Given the description of an element on the screen output the (x, y) to click on. 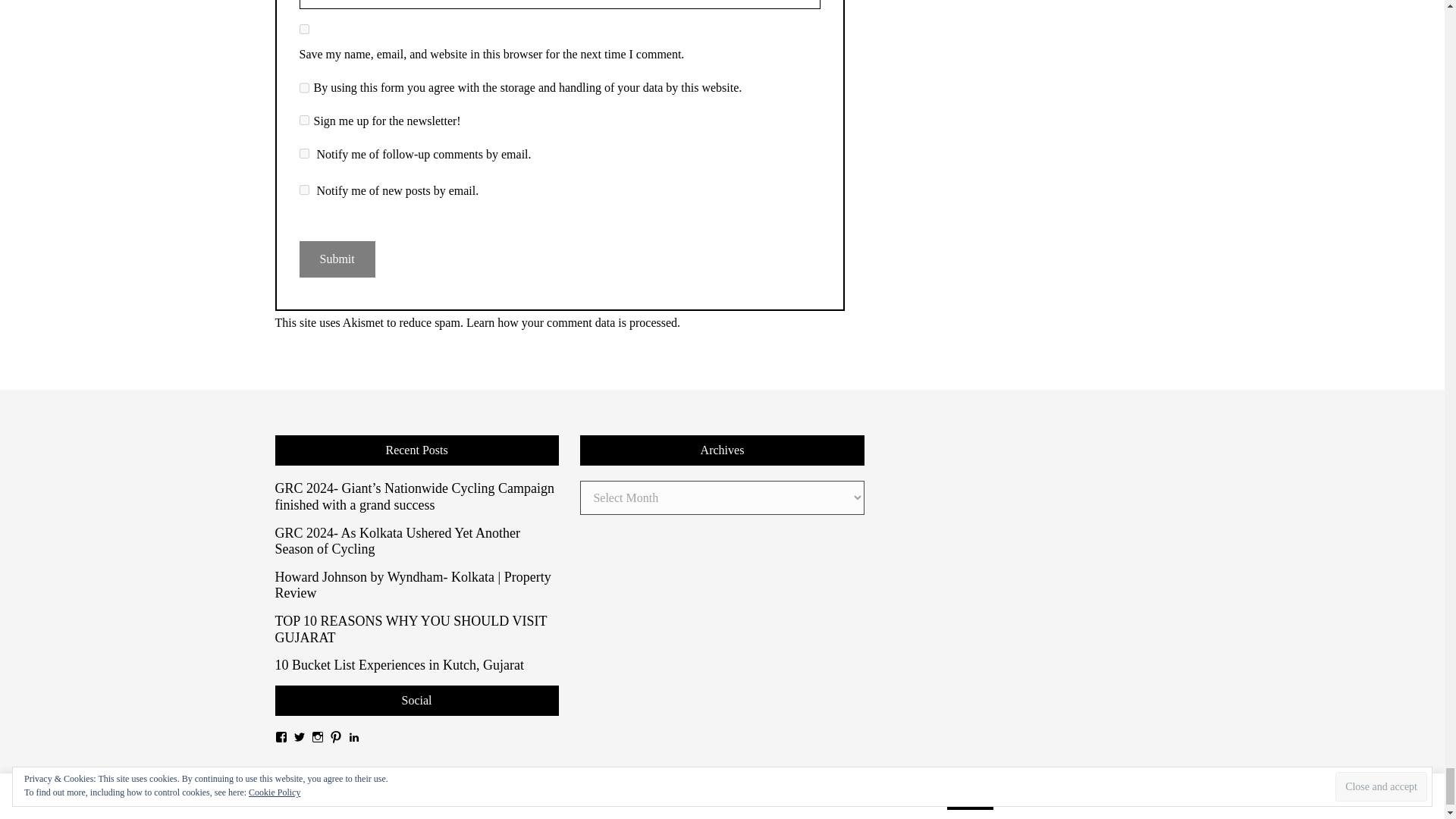
1 (303, 120)
yes (303, 29)
subscribe (303, 153)
subscribe (303, 189)
Submit (336, 258)
